Given the description of an element on the screen output the (x, y) to click on. 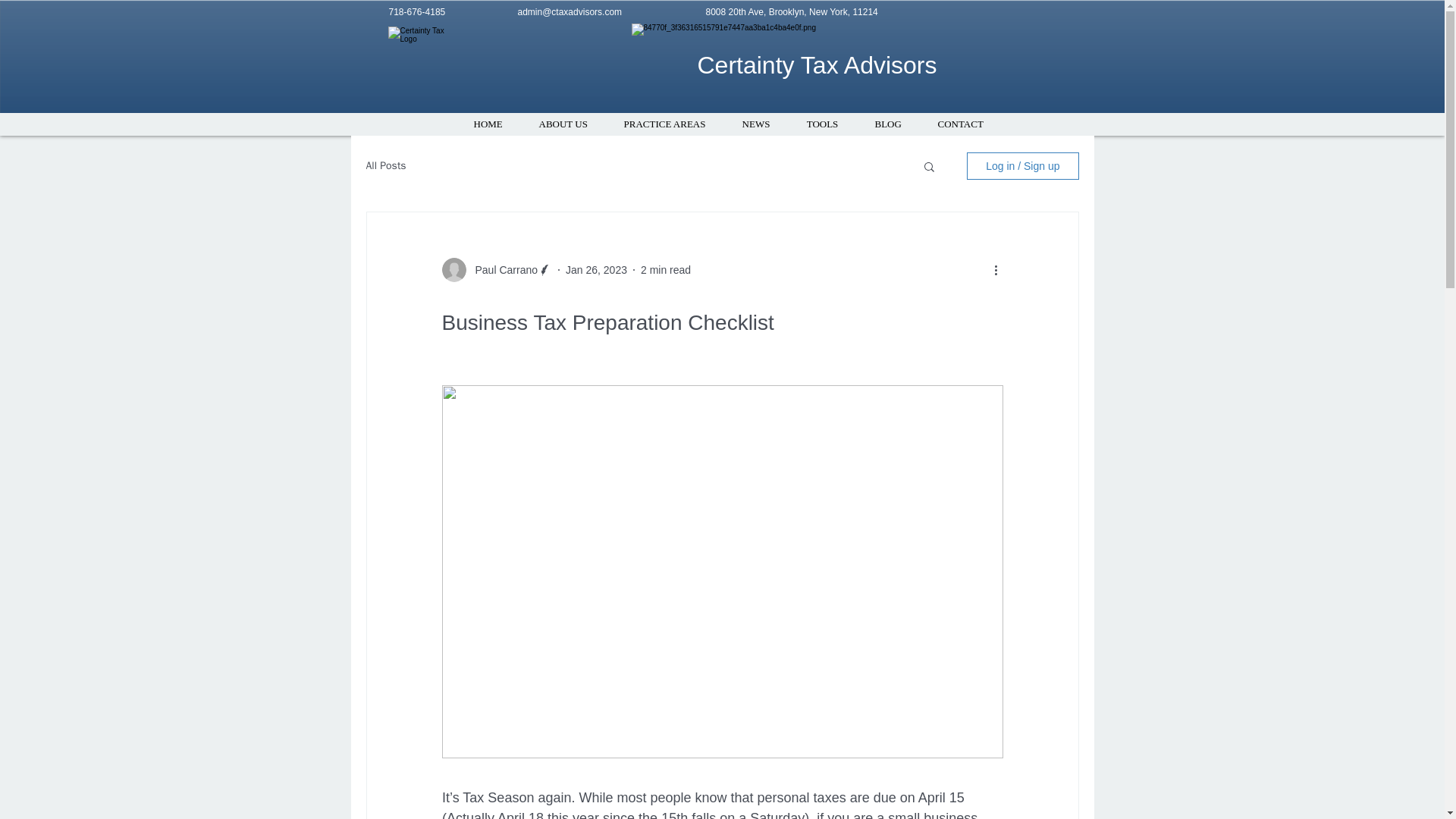
Paul Carrano (501, 270)
HOME (486, 124)
TOOLS (823, 124)
ABOUT US (562, 124)
2 min read (665, 269)
BLOG (888, 124)
CONTACT (959, 124)
All Posts (385, 165)
PRACTICE AREAS (664, 124)
Jan 26, 2023 (596, 269)
NEWS (755, 124)
Certainty Tax Advisors (817, 64)
